Given the description of an element on the screen output the (x, y) to click on. 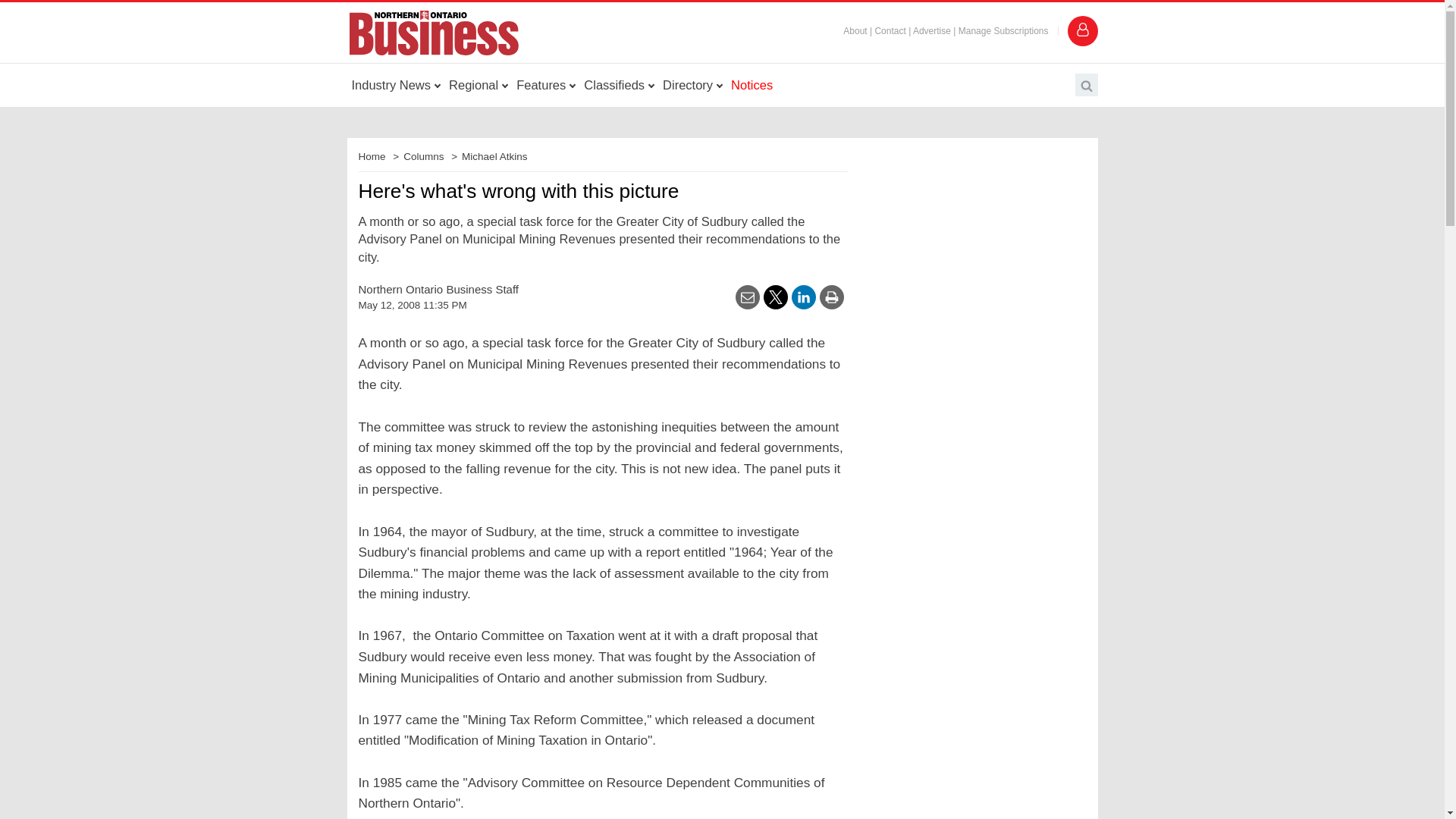
3rd party ad content (972, 664)
Contact (890, 30)
Regional (478, 85)
Advertise (931, 30)
Industry News (396, 85)
Manage Subscriptions (1003, 30)
About (854, 30)
3rd party ad content (722, 10)
